Given the description of an element on the screen output the (x, y) to click on. 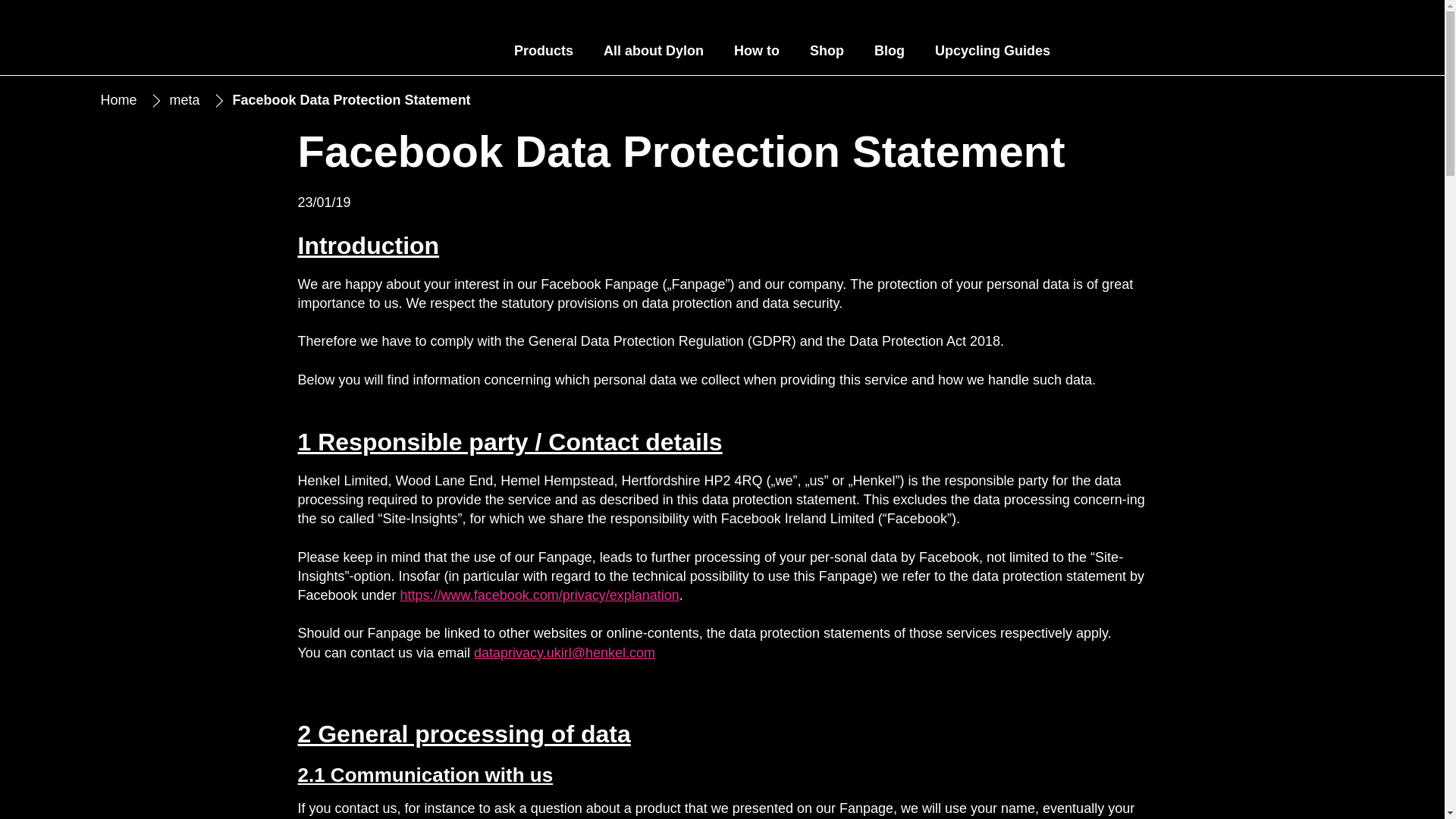
Upcycling Guides (992, 51)
How to (756, 51)
Shop (826, 51)
Blog (889, 51)
Home (118, 99)
meta (185, 99)
All about Dylon (653, 51)
Products (543, 51)
